Given the description of an element on the screen output the (x, y) to click on. 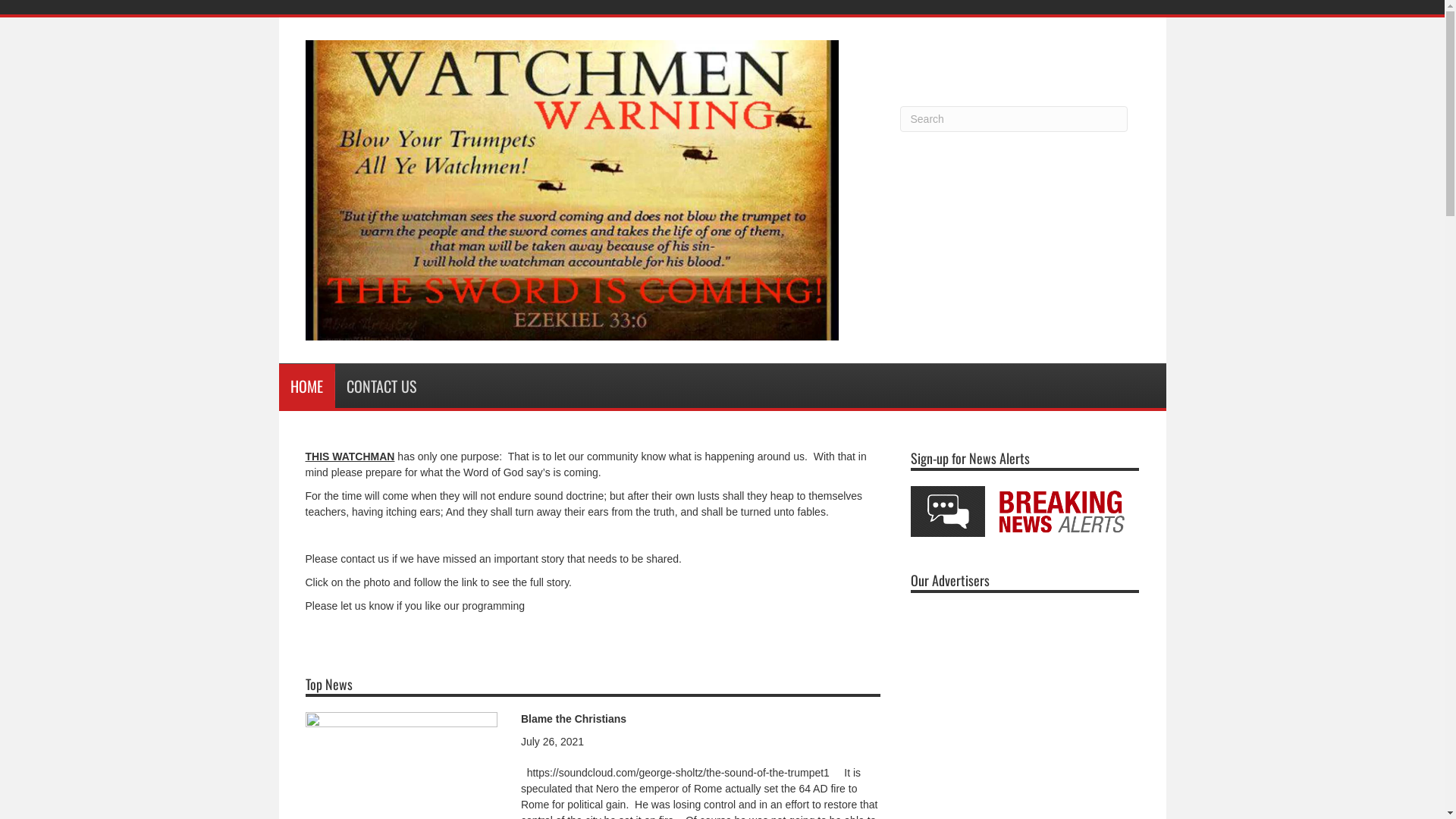
HOME Element type: text (307, 385)
CONTACT US Element type: text (381, 385)
Blame the Christians Element type: text (573, 718)
Blame the Christians Element type: hover (400, 776)
Type and press Enter to search. Element type: hover (1013, 118)
